Given the description of an element on the screen output the (x, y) to click on. 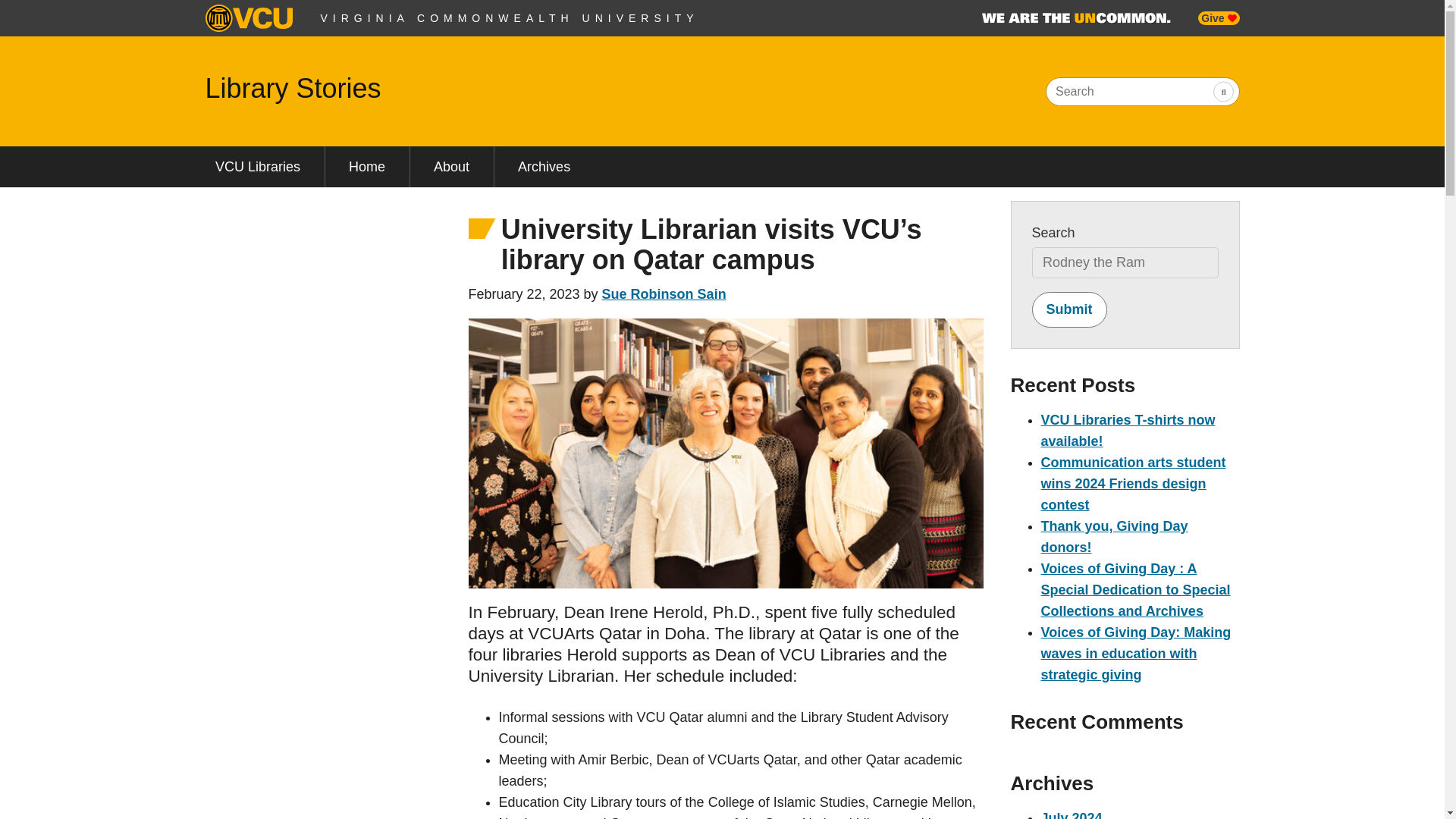
VCU Libraries T-shirts now available! (1127, 430)
About (451, 166)
Home (366, 166)
Communication arts student wins 2024 Friends design contest (1133, 483)
VIRGINIA COMMONWEALTH UNIVERSITY (509, 18)
Archives (544, 166)
We are the UNCOMMON. (1075, 17)
July 2024 (1071, 814)
Library Stories (292, 88)
Sue Robinson Sain (664, 294)
Give  (1218, 18)
Thank you, Giving Day donors! (1114, 536)
VCU Libraries (256, 166)
